Given the description of an element on the screen output the (x, y) to click on. 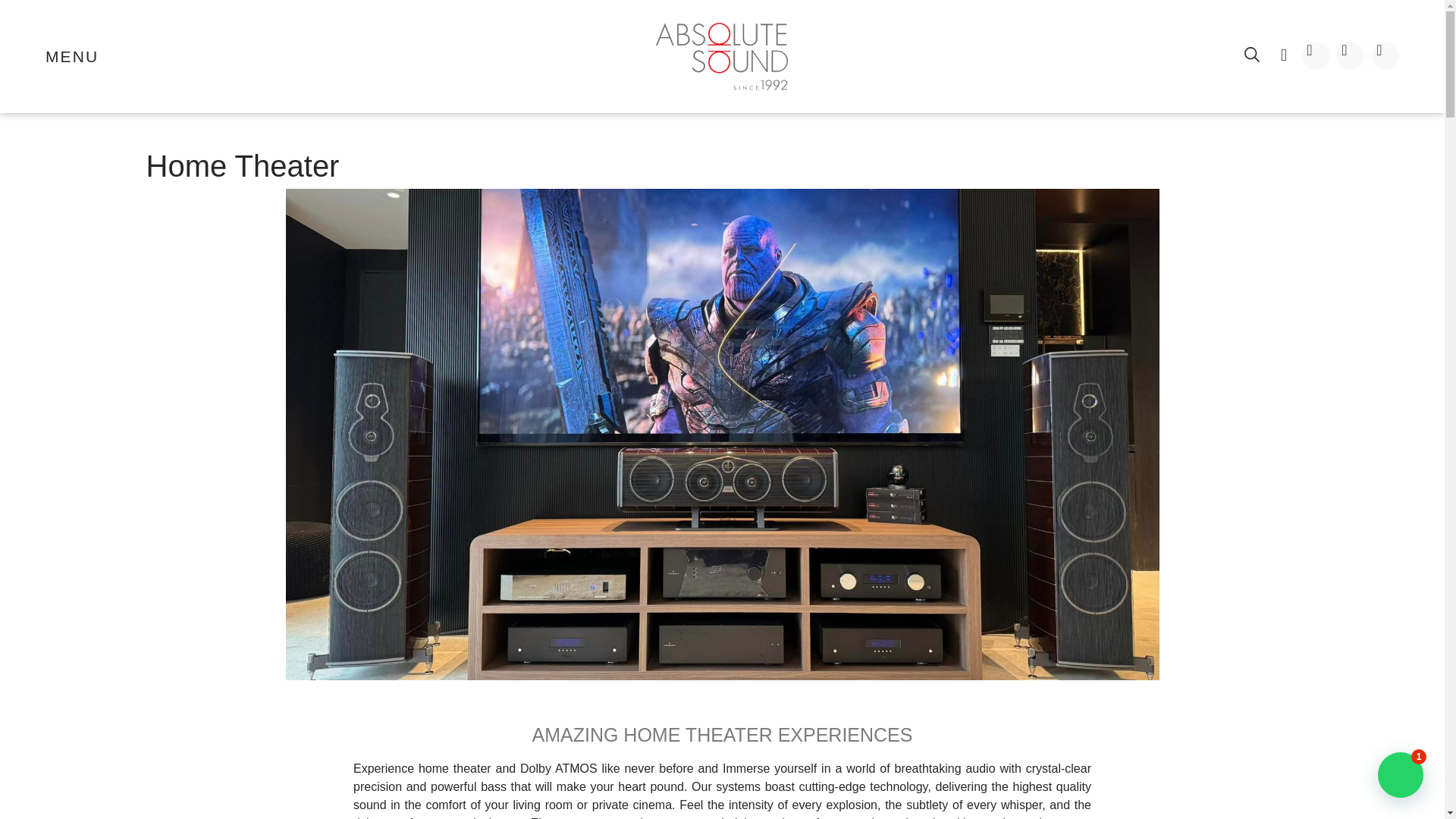
MENU (72, 56)
